Given the description of an element on the screen output the (x, y) to click on. 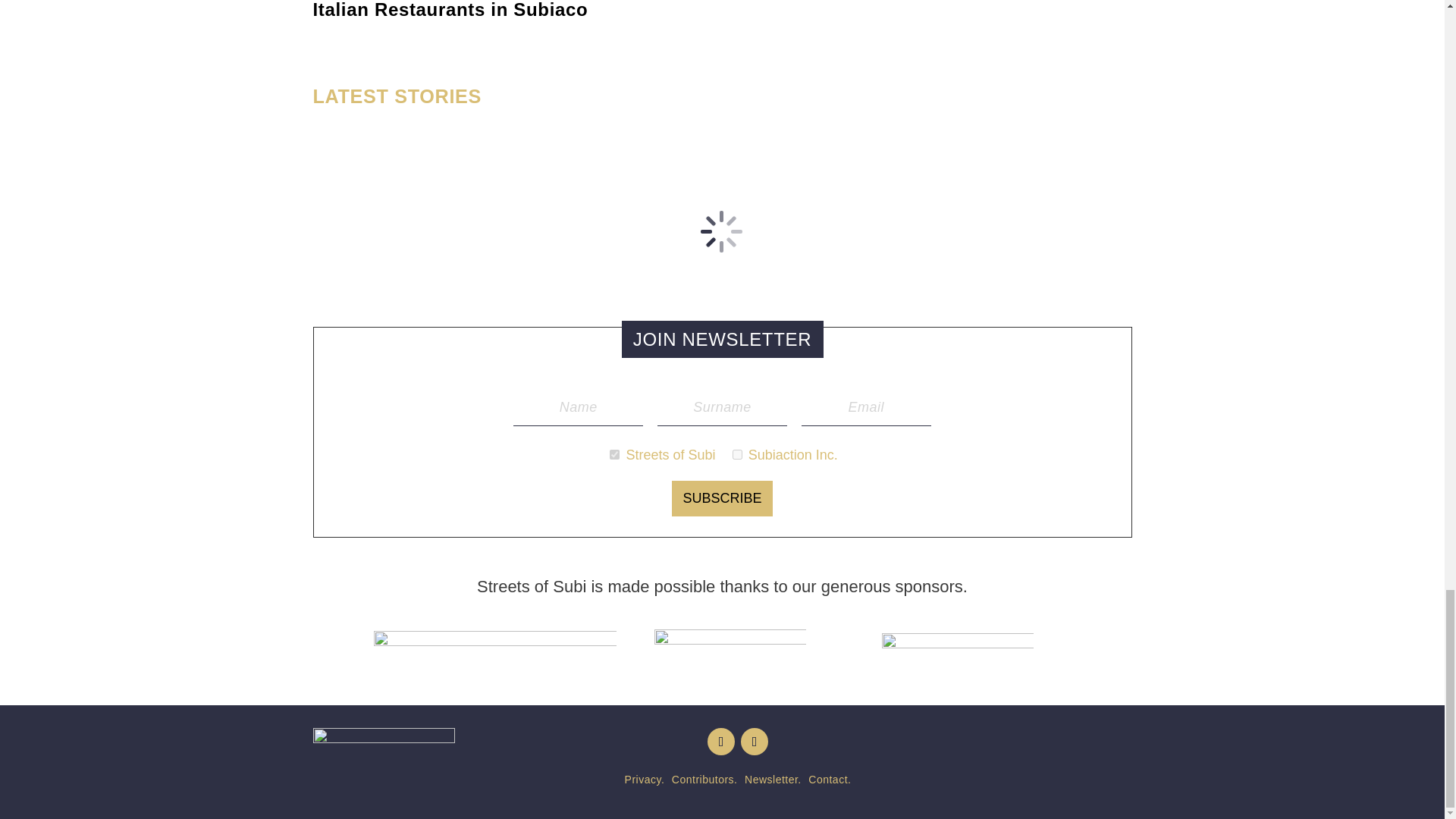
Follow on Instagram (721, 741)
subi-action-logo (383, 762)
0cef5943f0 (737, 454)
Subscribe (722, 498)
the-property-exchange-logo2 (493, 646)
Follow on Facebook (754, 741)
7df0802b6e (615, 454)
localista-logo (956, 646)
scoop-sponsor-logo (729, 647)
